Given the description of an element on the screen output the (x, y) to click on. 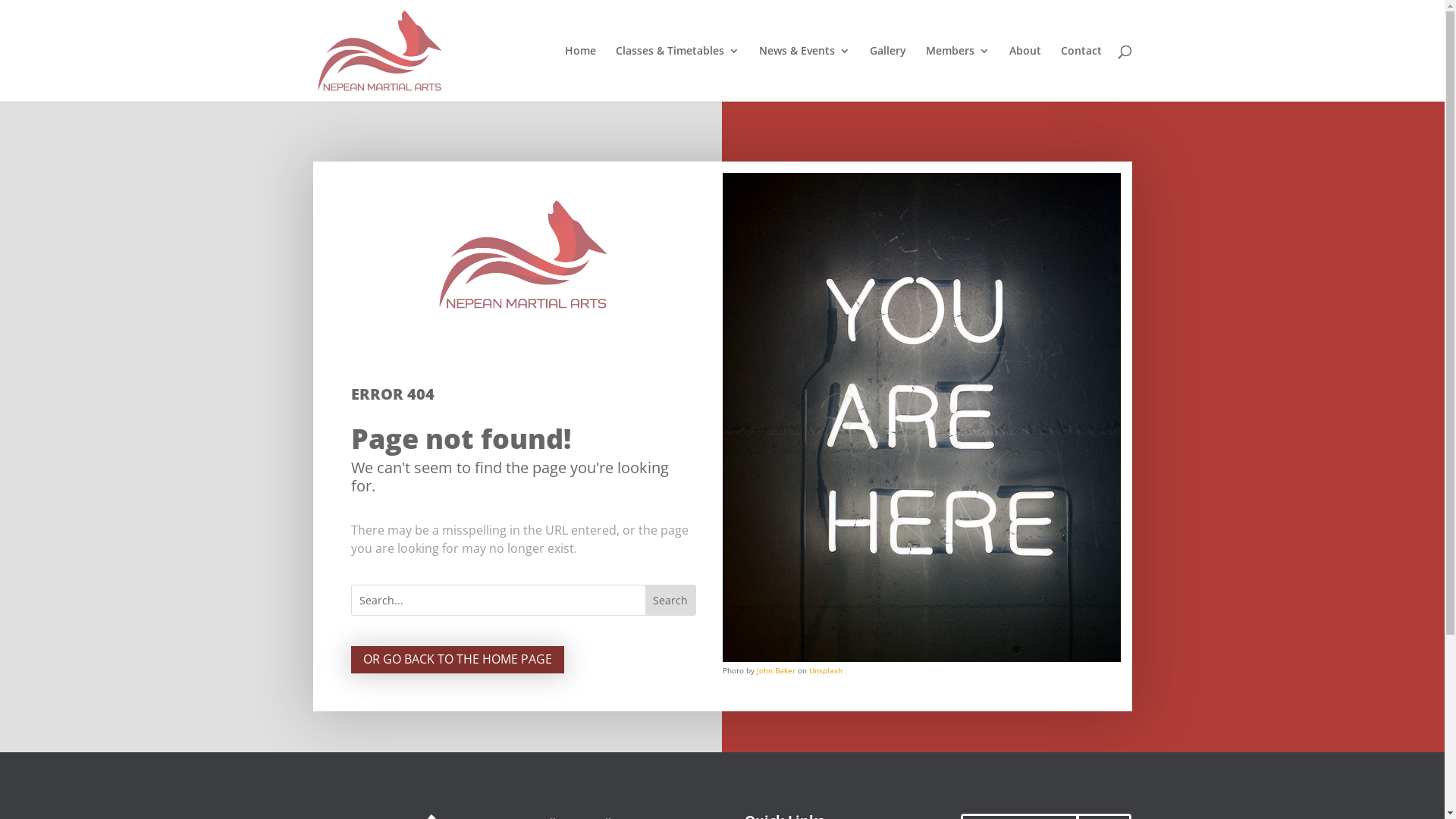
Contact Element type: text (1080, 73)
Search Element type: text (669, 600)
About Element type: text (1024, 73)
John Baker Element type: text (775, 670)
OR GO BACK TO THE HOME PAGE Element type: text (456, 660)
News & Events Element type: text (803, 73)
Classes & Timetables Element type: text (677, 73)
Members Element type: text (956, 73)
Home Element type: text (579, 73)
Unsplash Element type: text (824, 670)
Gallery Element type: text (887, 73)
